Given the description of an element on the screen output the (x, y) to click on. 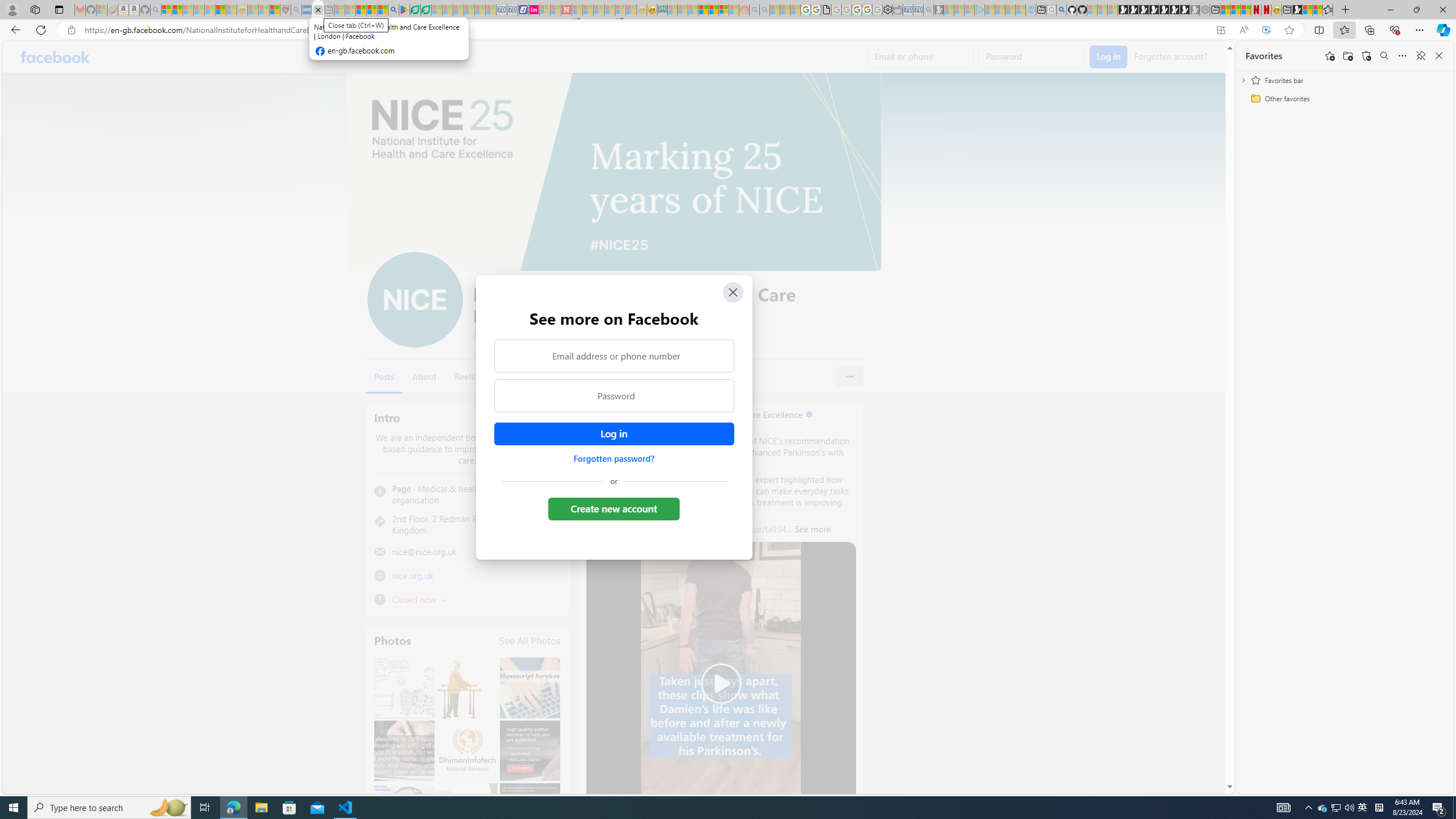
Close favorites (1439, 55)
Restore deleted favorites (1366, 55)
Accessible login button (613, 433)
